Given the description of an element on the screen output the (x, y) to click on. 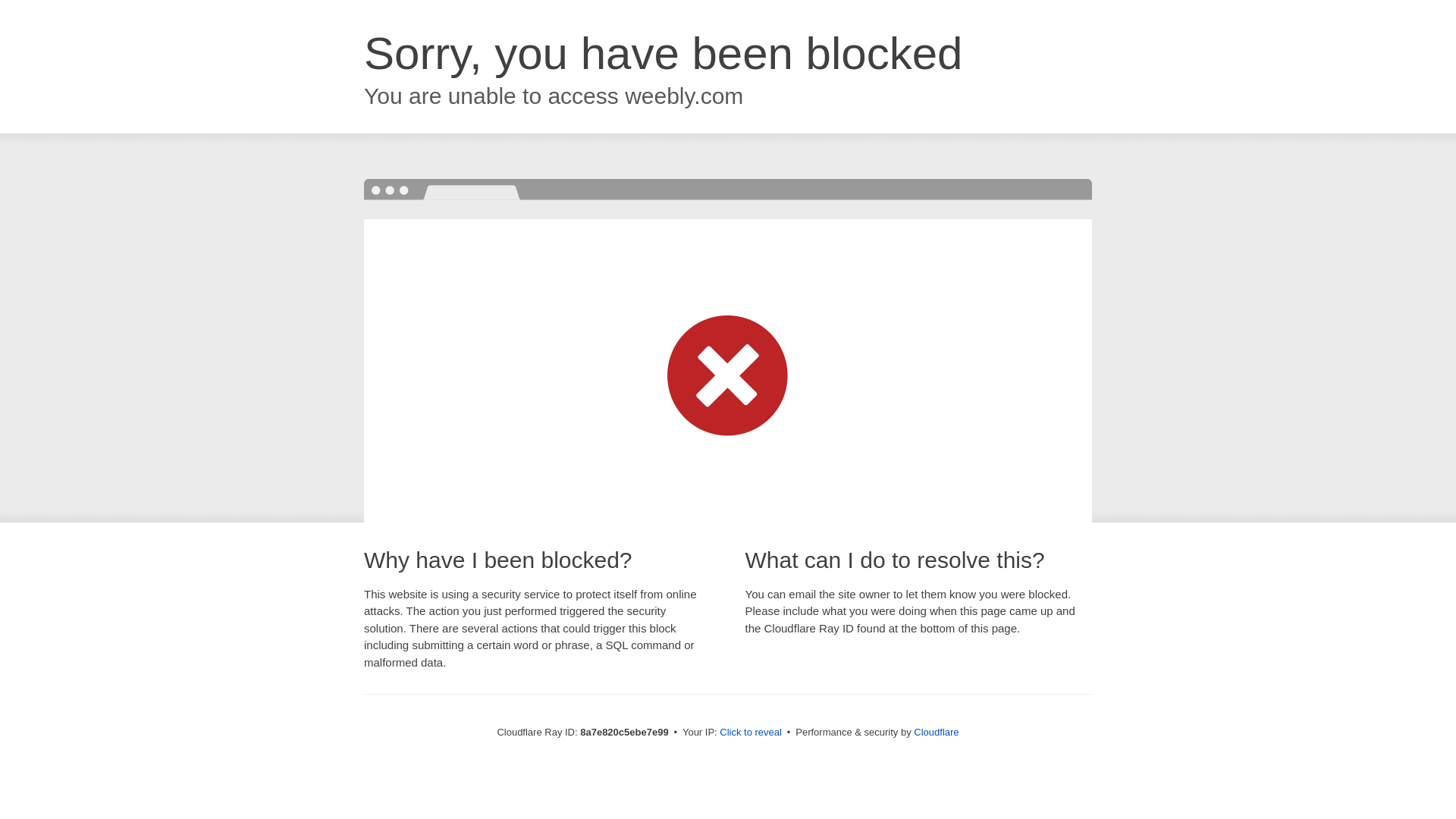
Click to reveal (750, 732)
Cloudflare (936, 731)
